Given the description of an element on the screen output the (x, y) to click on. 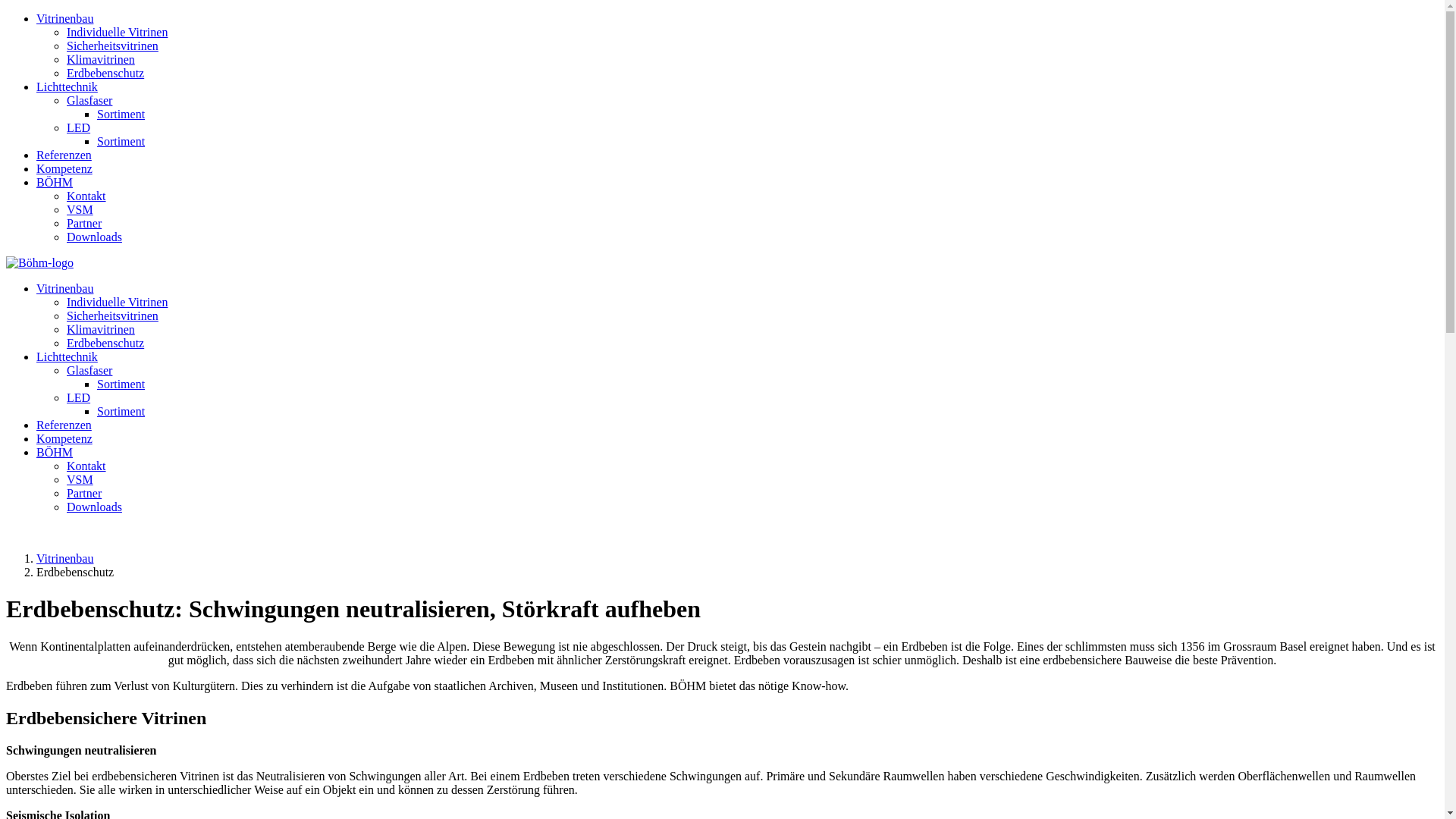
Vitrinenbau Element type: text (64, 18)
VSM Element type: text (79, 209)
Sortiment Element type: text (120, 140)
Kompetenz Element type: text (64, 168)
LED Element type: text (78, 397)
LED Element type: text (78, 127)
Glasfaser Element type: text (89, 100)
Downloads Element type: text (94, 236)
Klimavitrinen Element type: text (100, 59)
Individuelle Vitrinen Element type: text (116, 31)
Kompetenz Element type: text (64, 438)
Referenzen Element type: text (63, 154)
Partner Element type: text (83, 492)
Sortiment Element type: text (120, 113)
Erdbebenschutz Element type: text (105, 72)
Sicherheitsvitrinen Element type: text (112, 315)
Kontakt Element type: text (86, 465)
Sortiment Element type: text (120, 410)
Vitrinenbau Element type: text (64, 288)
Erdbebenschutz Element type: text (105, 342)
Individuelle Vitrinen Element type: text (116, 301)
Lichttechnik Element type: text (66, 356)
Partner Element type: text (83, 222)
Klimavitrinen Element type: text (100, 329)
Referenzen Element type: text (63, 424)
VSM Element type: text (79, 479)
Sortiment Element type: text (120, 383)
Downloads Element type: text (94, 506)
Vitrinenbau Element type: text (64, 558)
Glasfaser Element type: text (89, 370)
Sicherheitsvitrinen Element type: text (112, 45)
Lichttechnik Element type: text (66, 86)
Kontakt Element type: text (86, 195)
